Given the description of an element on the screen output the (x, y) to click on. 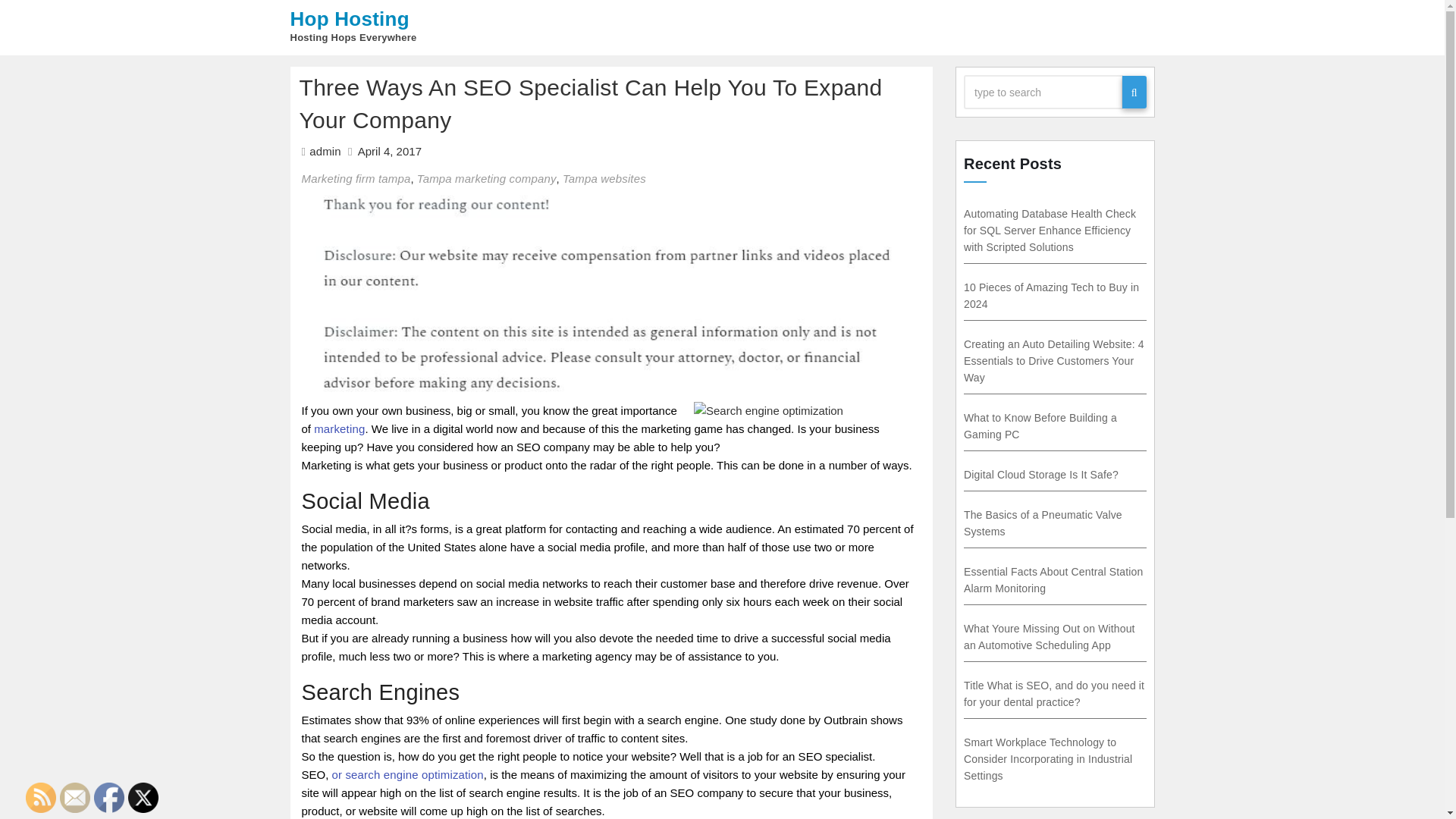
Tampa websites (604, 178)
Essential Facts About Central Station Alarm Monitoring (1052, 579)
or search engine optimization (407, 774)
10 Pieces of Amazing Tech to Buy in 2024 (1050, 295)
Tampa marketing company (486, 178)
